Given the description of an element on the screen output the (x, y) to click on. 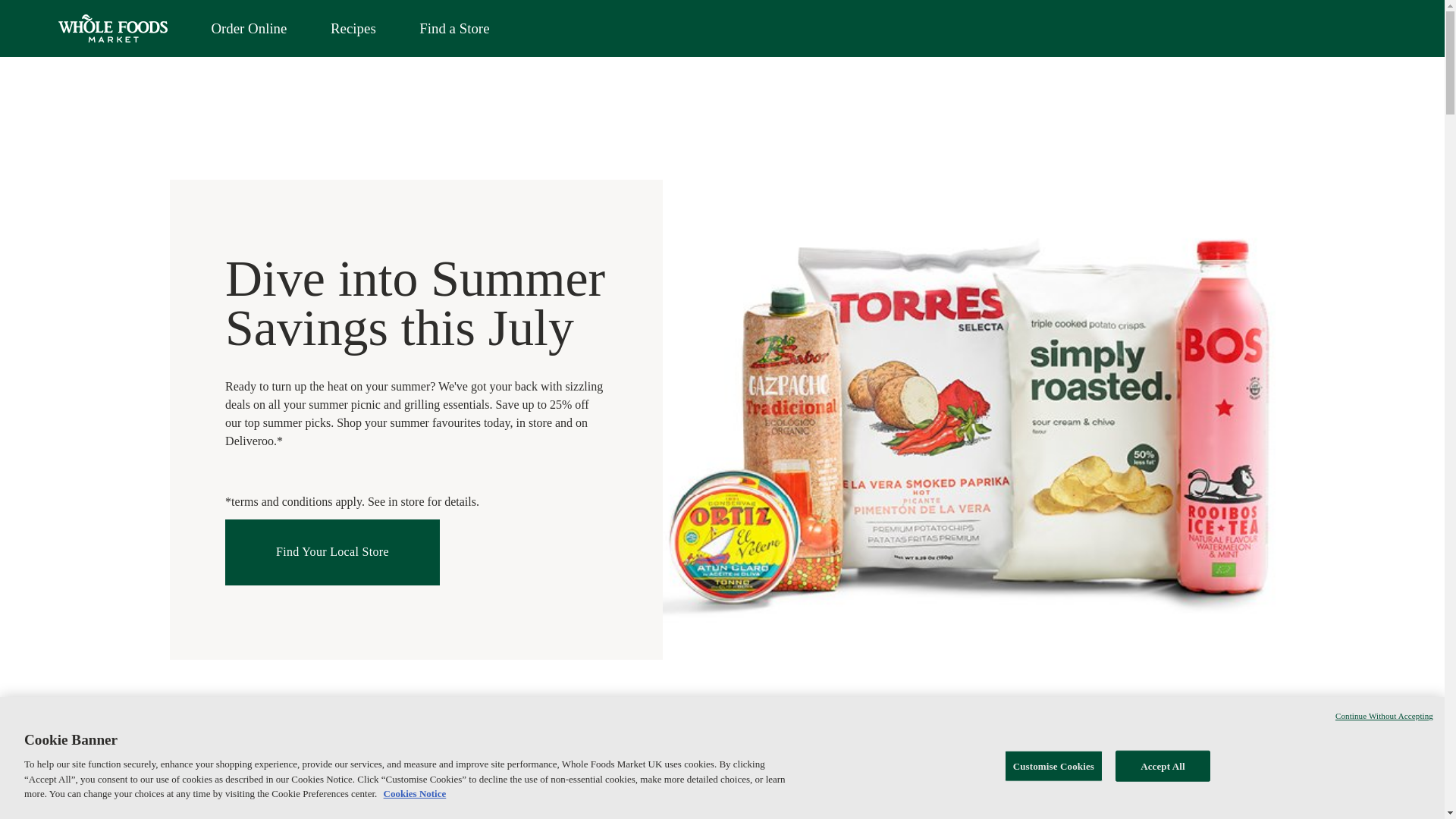
Recipes (352, 28)
Find a Store (454, 28)
Find Your Local Store (332, 552)
Order Online (248, 28)
